Given the description of an element on the screen output the (x, y) to click on. 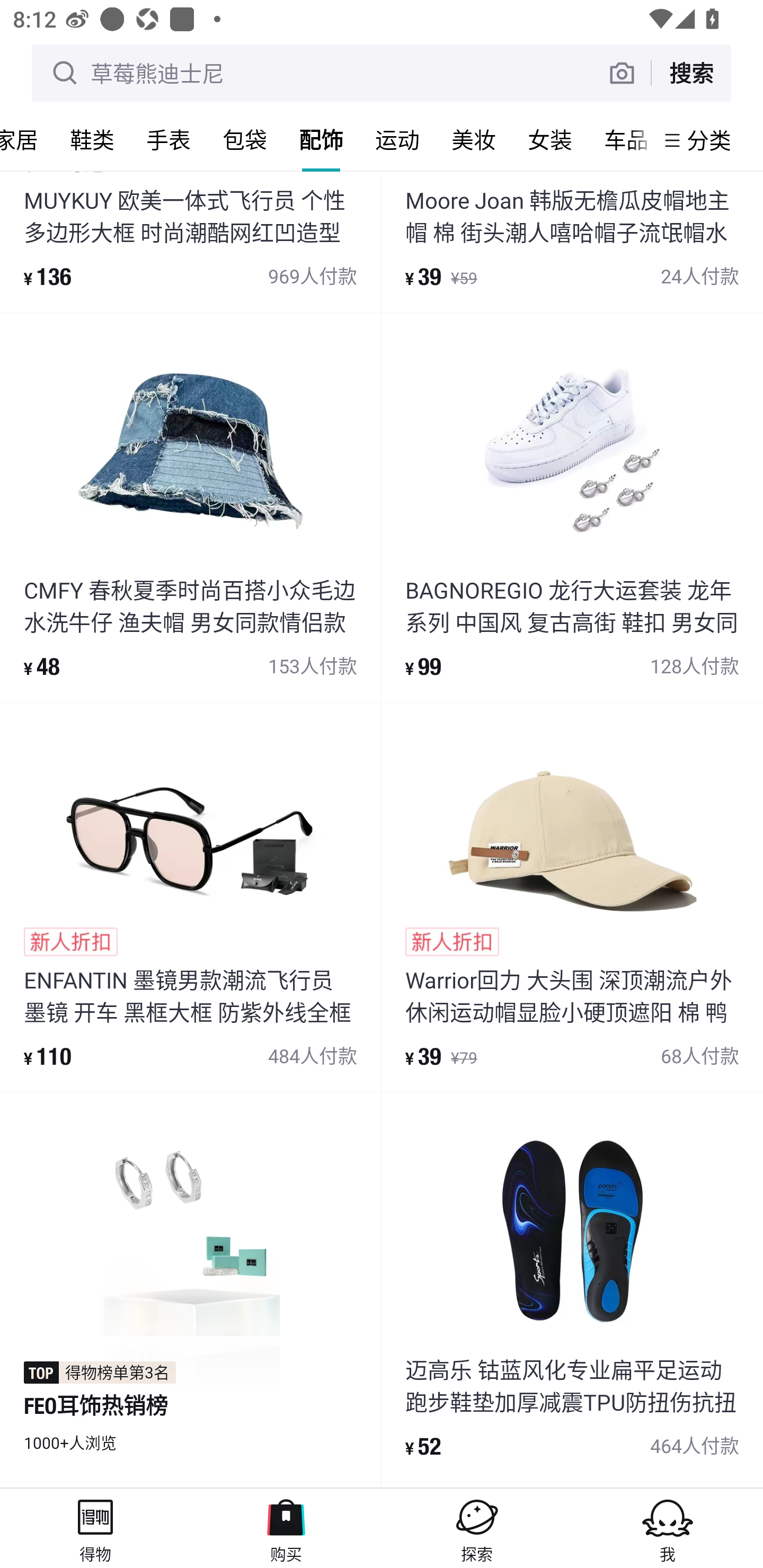
搜索 (690, 72)
家居 (27, 139)
鞋类 (92, 139)
手表 (168, 139)
包袋 (244, 139)
配饰 (321, 139)
运动 (397, 139)
美妆 (473, 139)
女装 (549, 139)
车品 (621, 139)
分类 (708, 139)
得物榜单第3名 FEO耳饰热销榜 1000+人浏览 (190, 1286)
得物 (95, 1528)
购买 (285, 1528)
探索 (476, 1528)
我 (667, 1528)
